Given the description of an element on the screen output the (x, y) to click on. 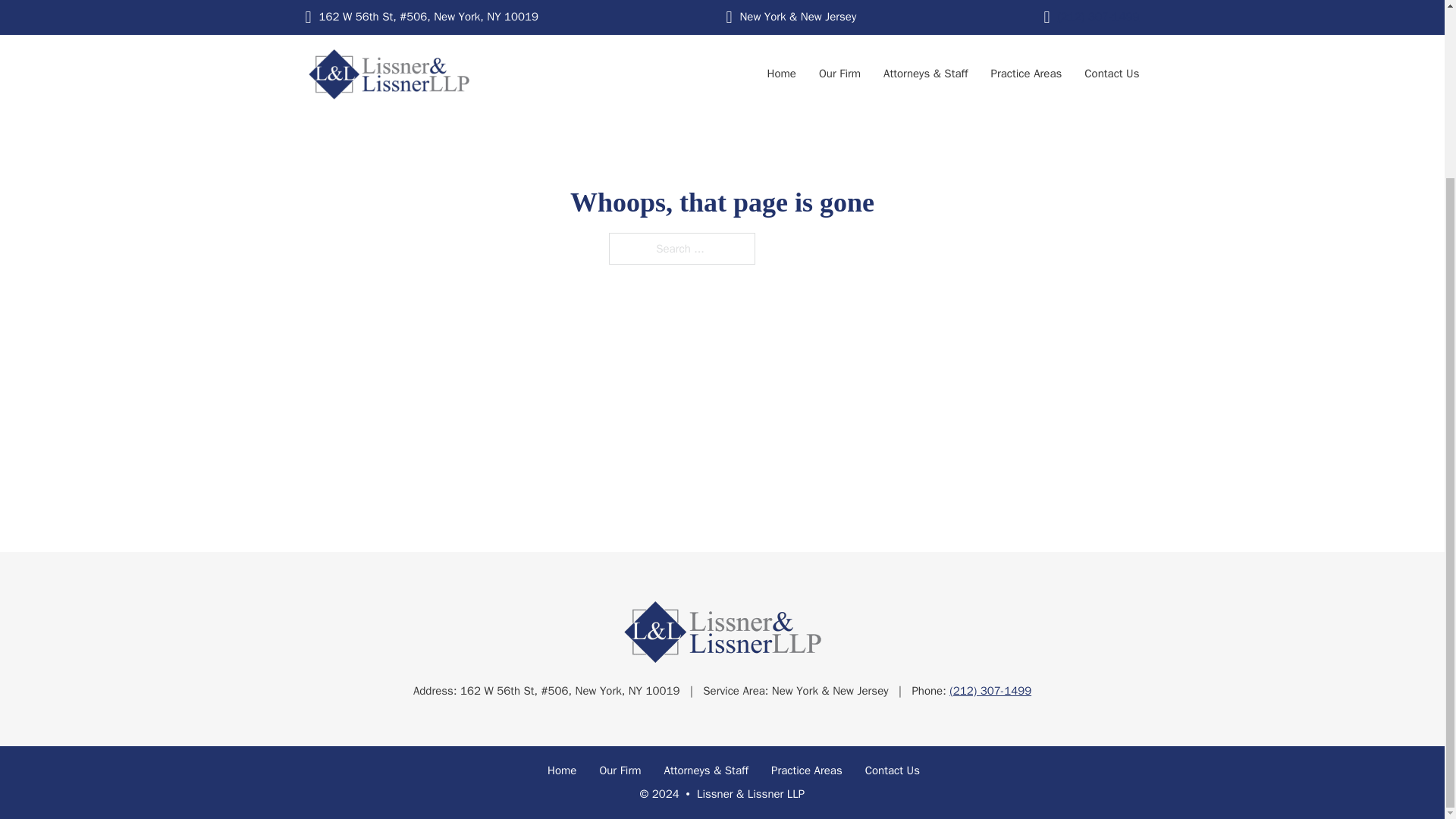
Contact Us (892, 771)
Practice Areas (807, 771)
Our Firm (619, 771)
Home (561, 771)
